Given the description of an element on the screen output the (x, y) to click on. 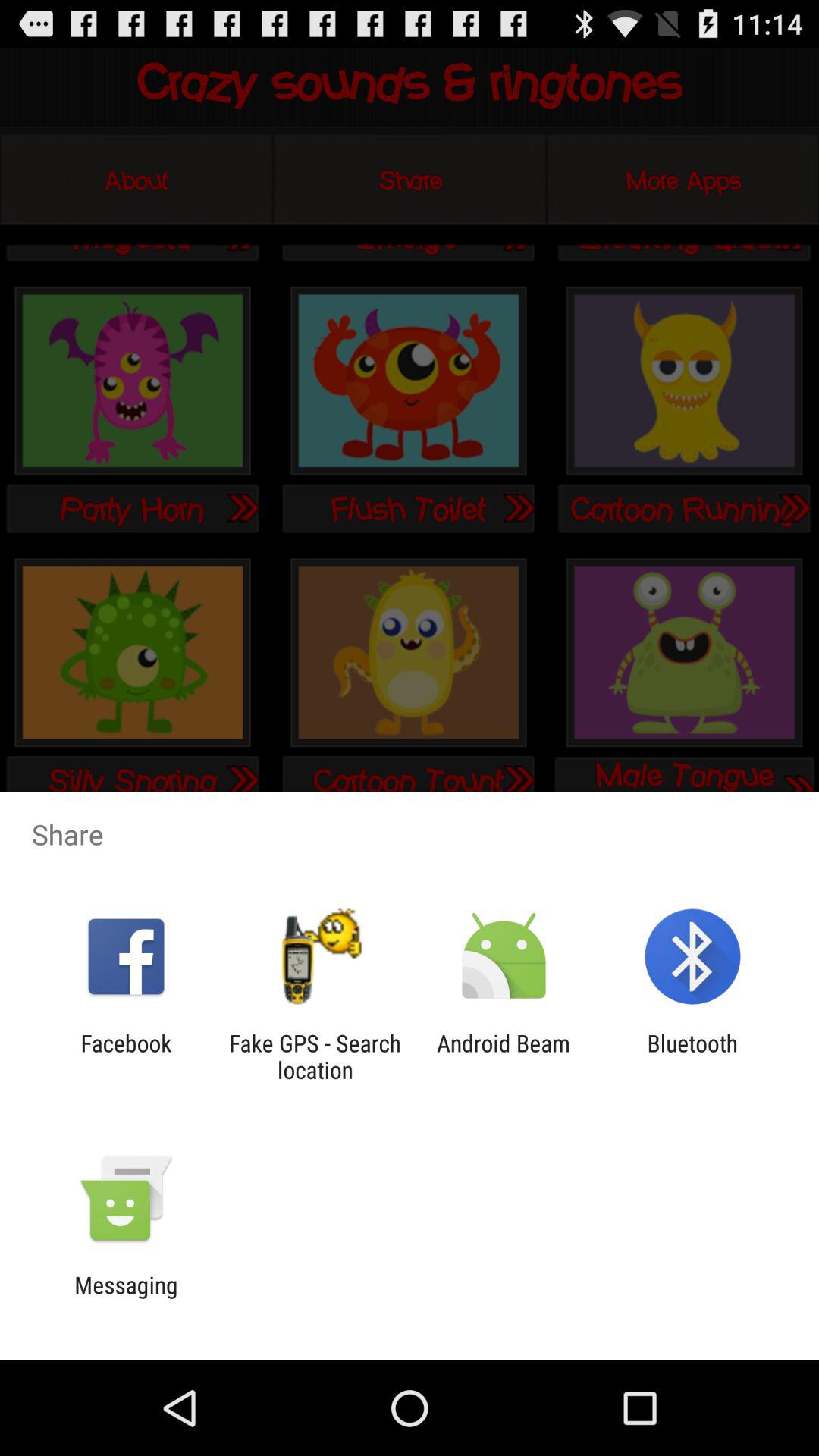
launch the android beam icon (503, 1056)
